Given the description of an element on the screen output the (x, y) to click on. 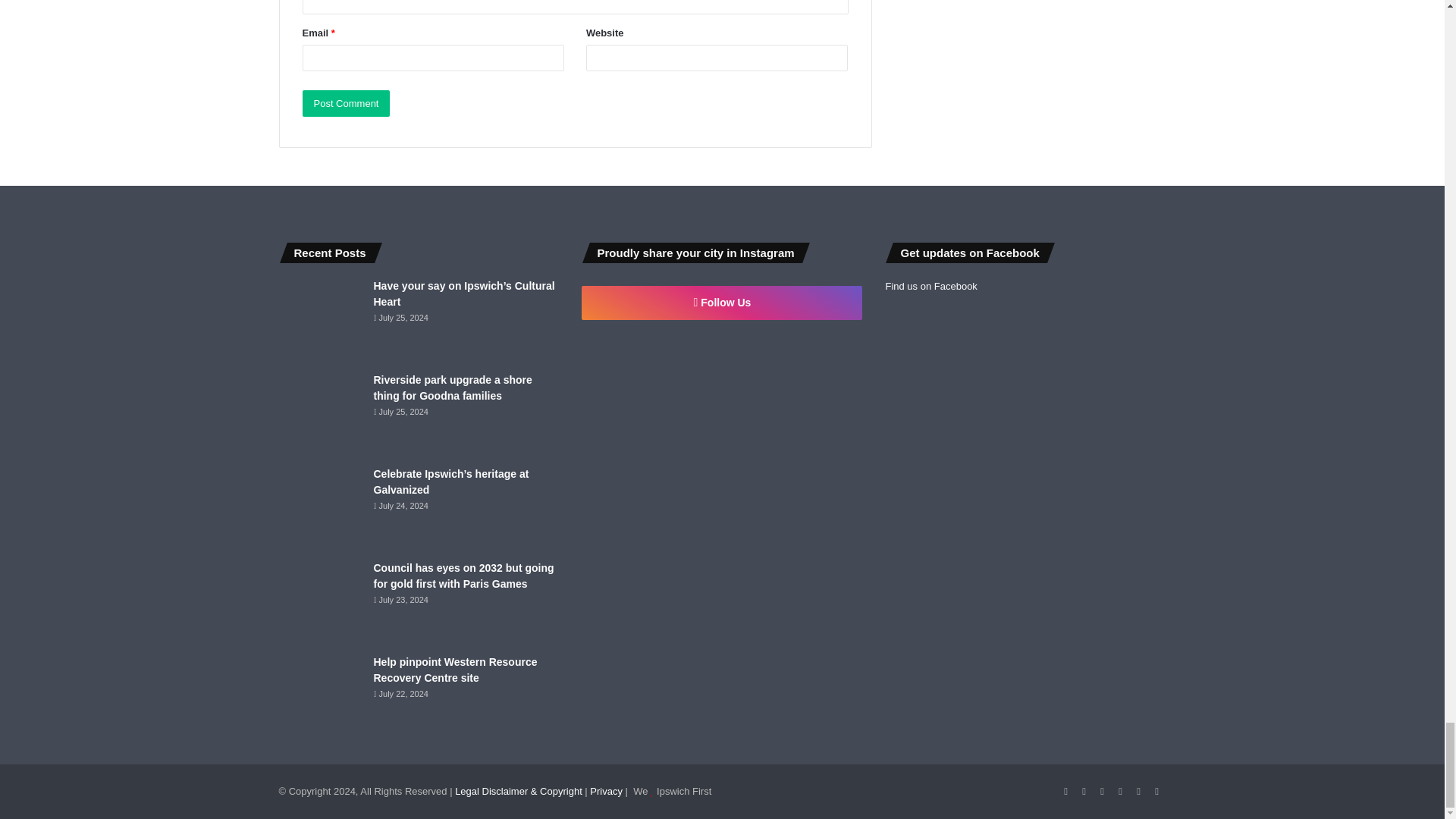
Post Comment (345, 103)
